Given the description of an element on the screen output the (x, y) to click on. 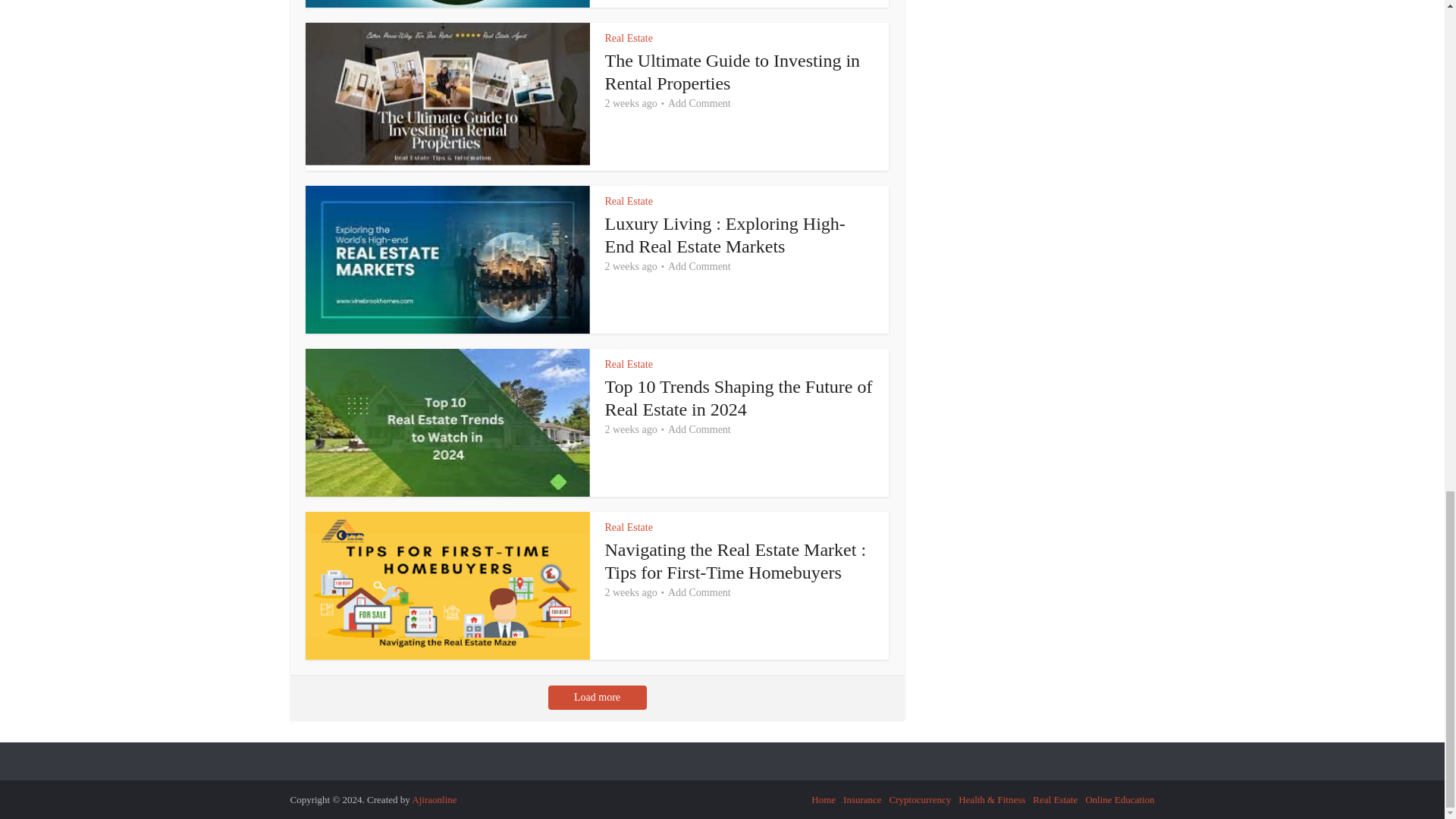
Real Estate (628, 38)
Luxury Living : Exploring High-End Real Estate Markets (725, 234)
Real Estate (628, 201)
The Ultimate Guide to Investing in Rental Properties (732, 71)
The Ultimate Guide to Investing in Rental Properties (732, 71)
Add Comment (699, 103)
